Given the description of an element on the screen output the (x, y) to click on. 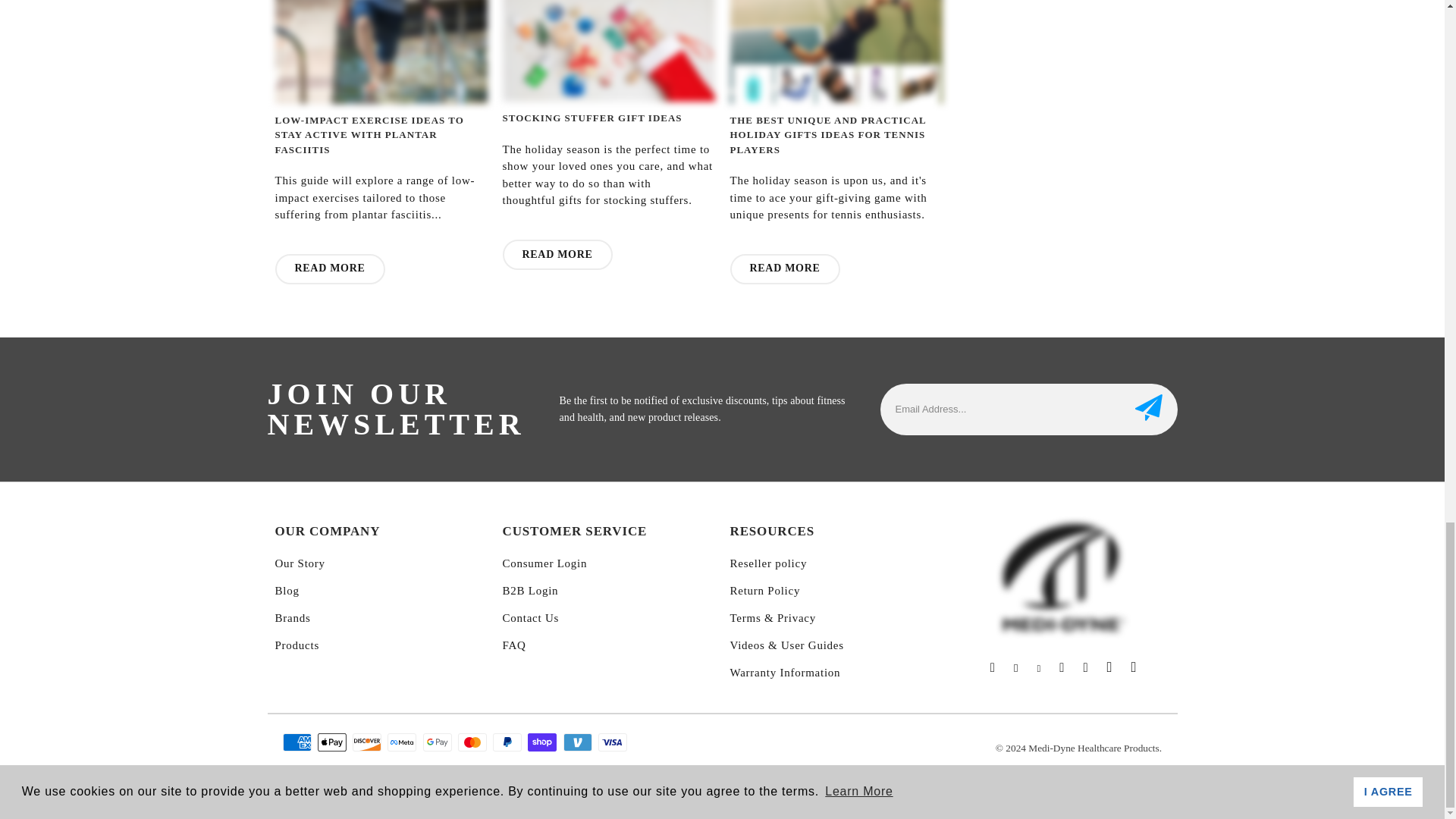
Sign Up (1147, 409)
